Given the description of an element on the screen output the (x, y) to click on. 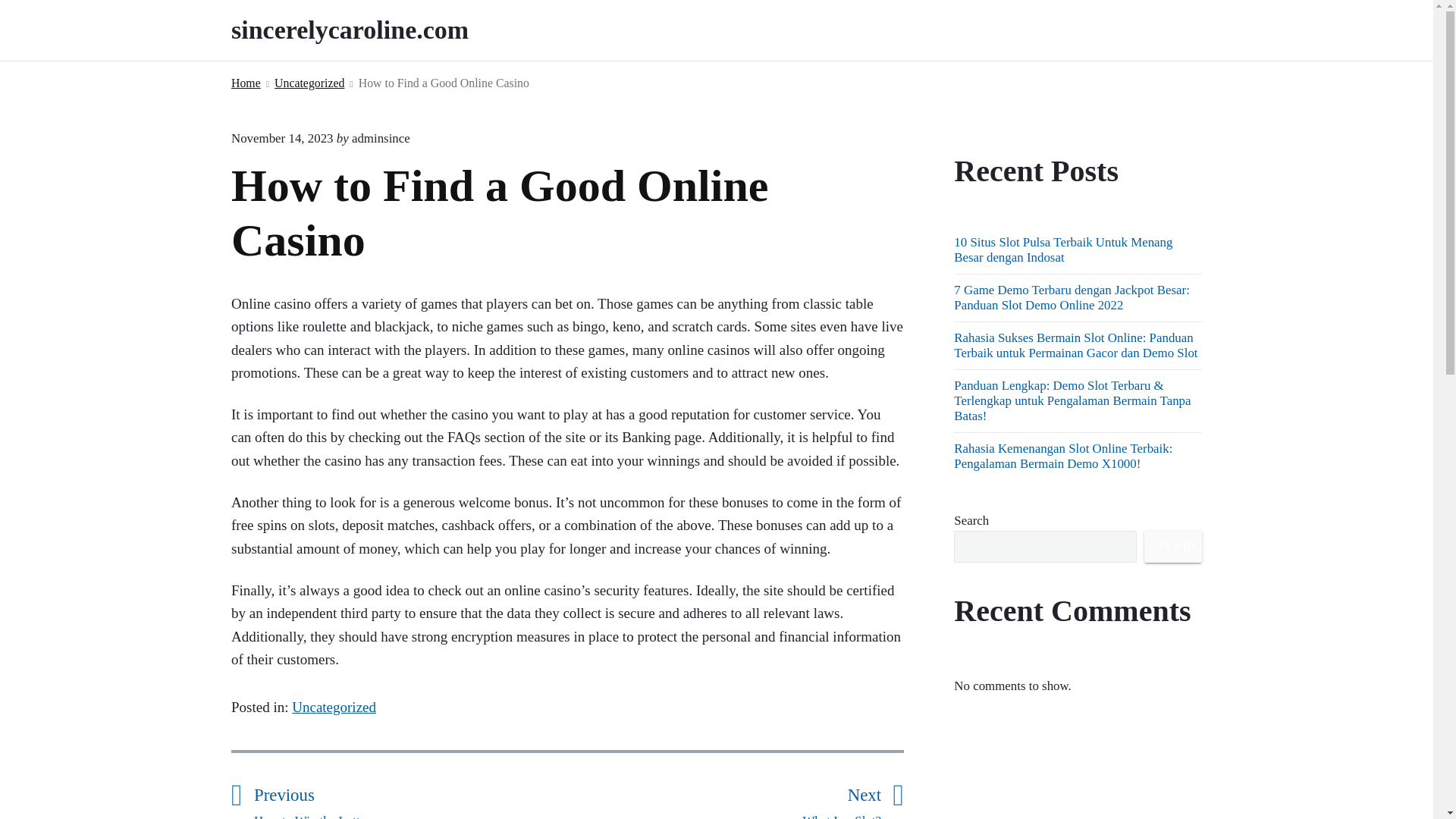
sincerelycaroline.com (371, 30)
Home (410, 798)
Tuesday, November 14, 2023, 1:03 pm (245, 82)
adminsince (282, 138)
SEARCH (723, 798)
Posts by adminsince (381, 138)
Uncategorized (1173, 546)
Uncategorized (381, 138)
